Given the description of an element on the screen output the (x, y) to click on. 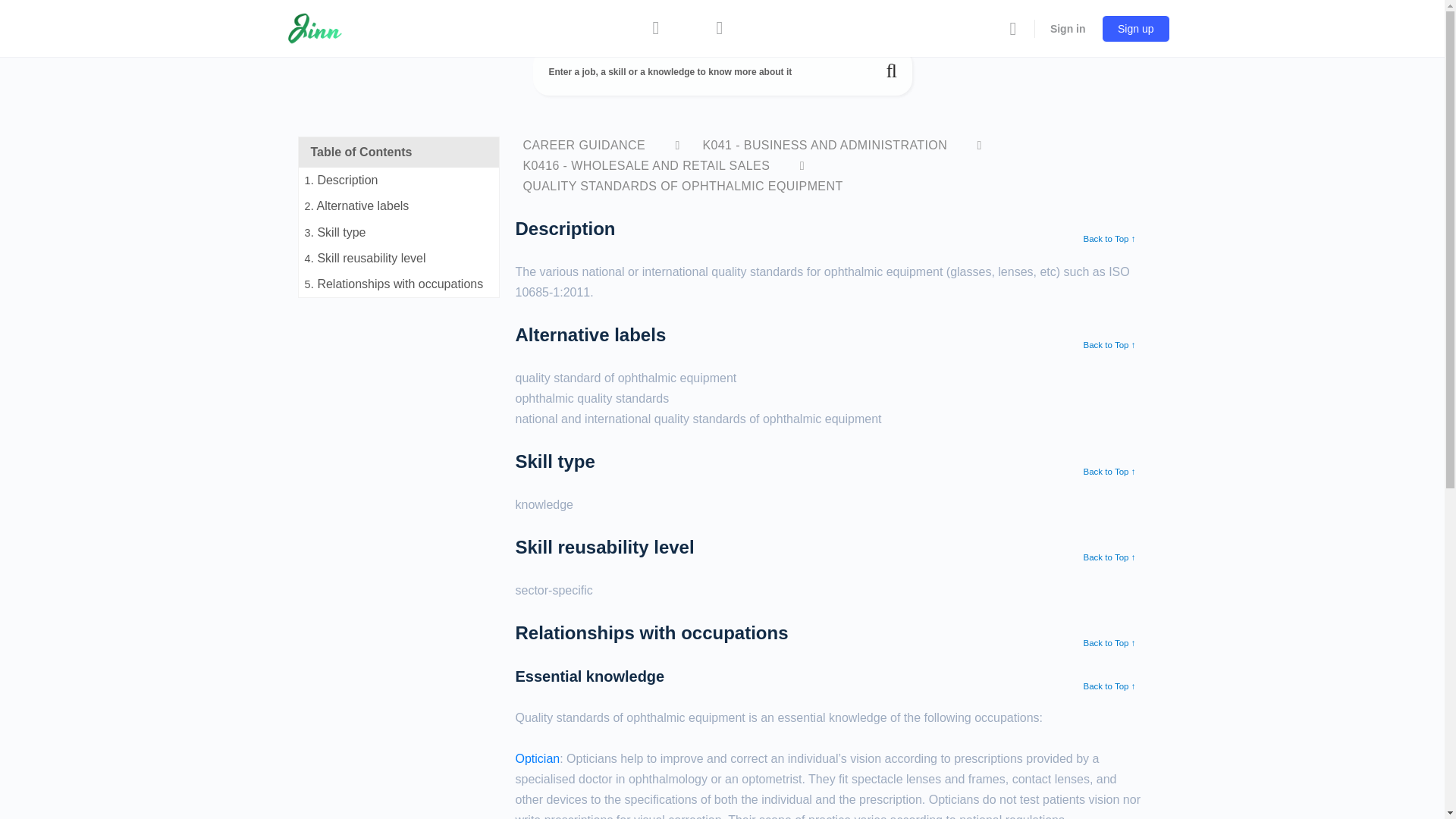
2. Alternative labels (398, 206)
3. Skill type (398, 232)
1. Description (398, 180)
Sign up (1135, 28)
2. Alternative labels (398, 206)
4. Skill reusability level (398, 258)
Sign in (1067, 27)
1. Description (398, 180)
Submit (891, 71)
5. Relationships with occupations (398, 284)
